Given the description of an element on the screen output the (x, y) to click on. 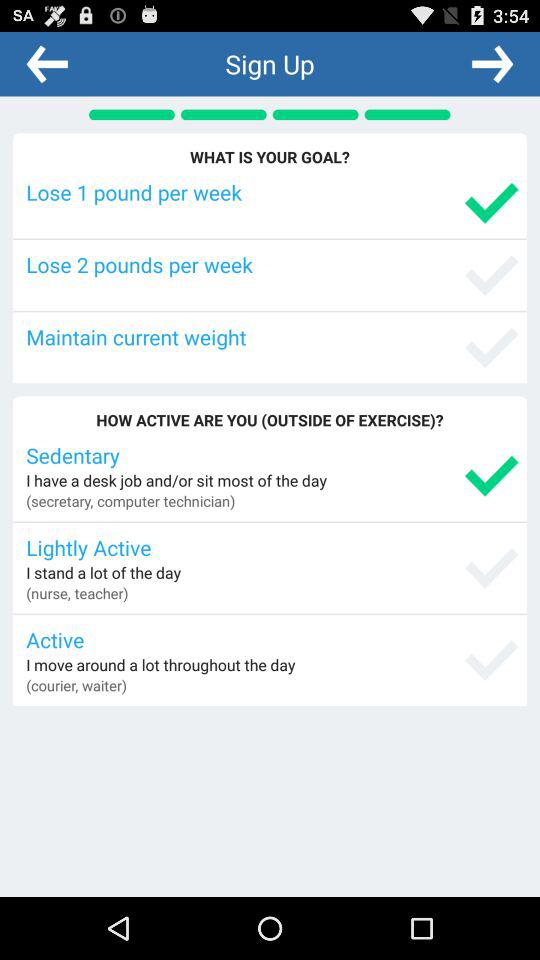
choose icon above the what is your app (47, 63)
